Given the description of an element on the screen output the (x, y) to click on. 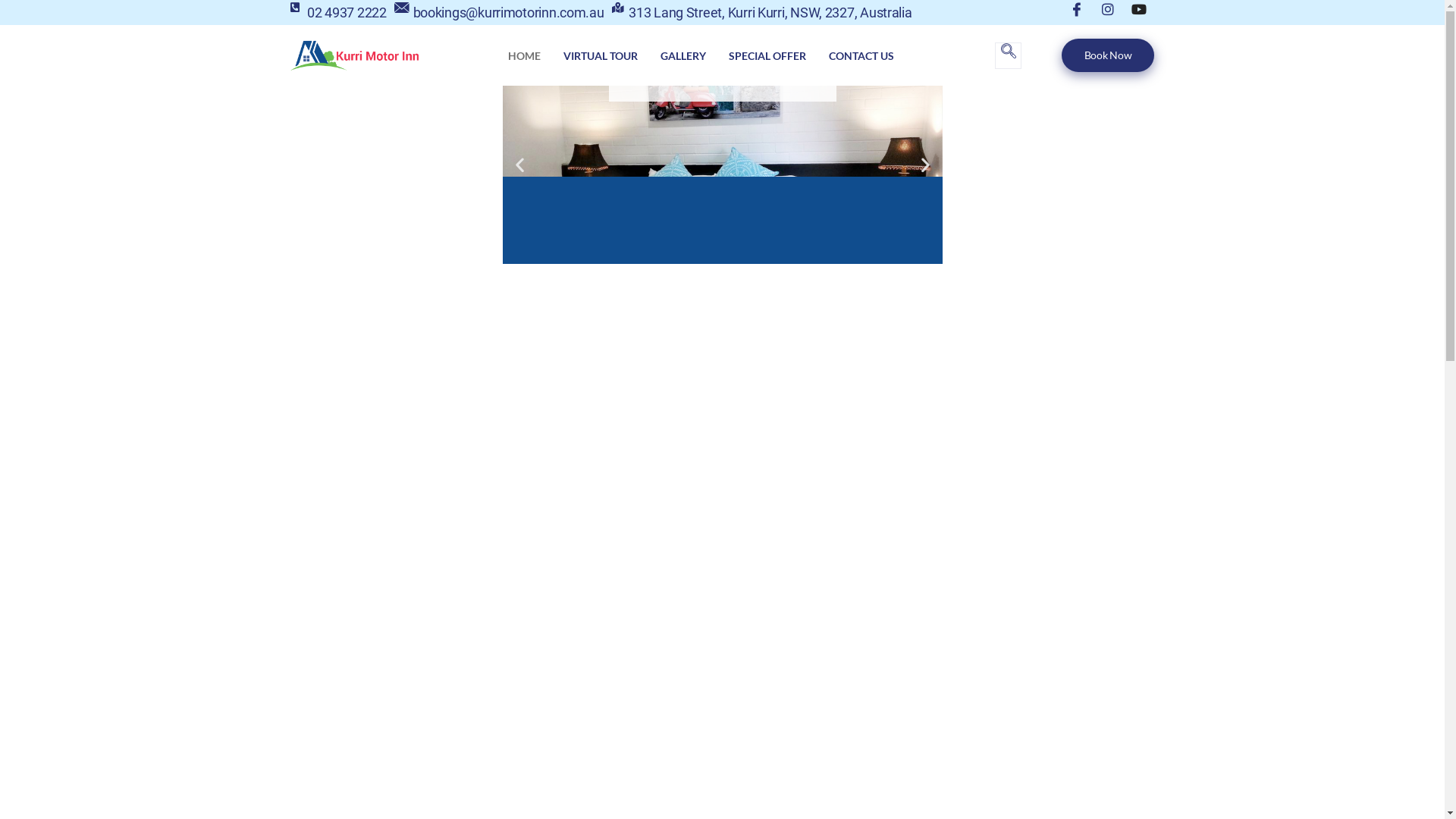
02 4937 2222 Element type: text (337, 12)
SPECIAL OFFER Element type: text (767, 55)
bookings@kurrimotorinn.com.au Element type: text (499, 12)
Book Now Element type: text (1107, 55)
HOME Element type: text (524, 55)
GALLERY Element type: text (683, 55)
VIRTUAL TOUR Element type: text (600, 55)
CONTACT US Element type: text (861, 55)
